Given the description of an element on the screen output the (x, y) to click on. 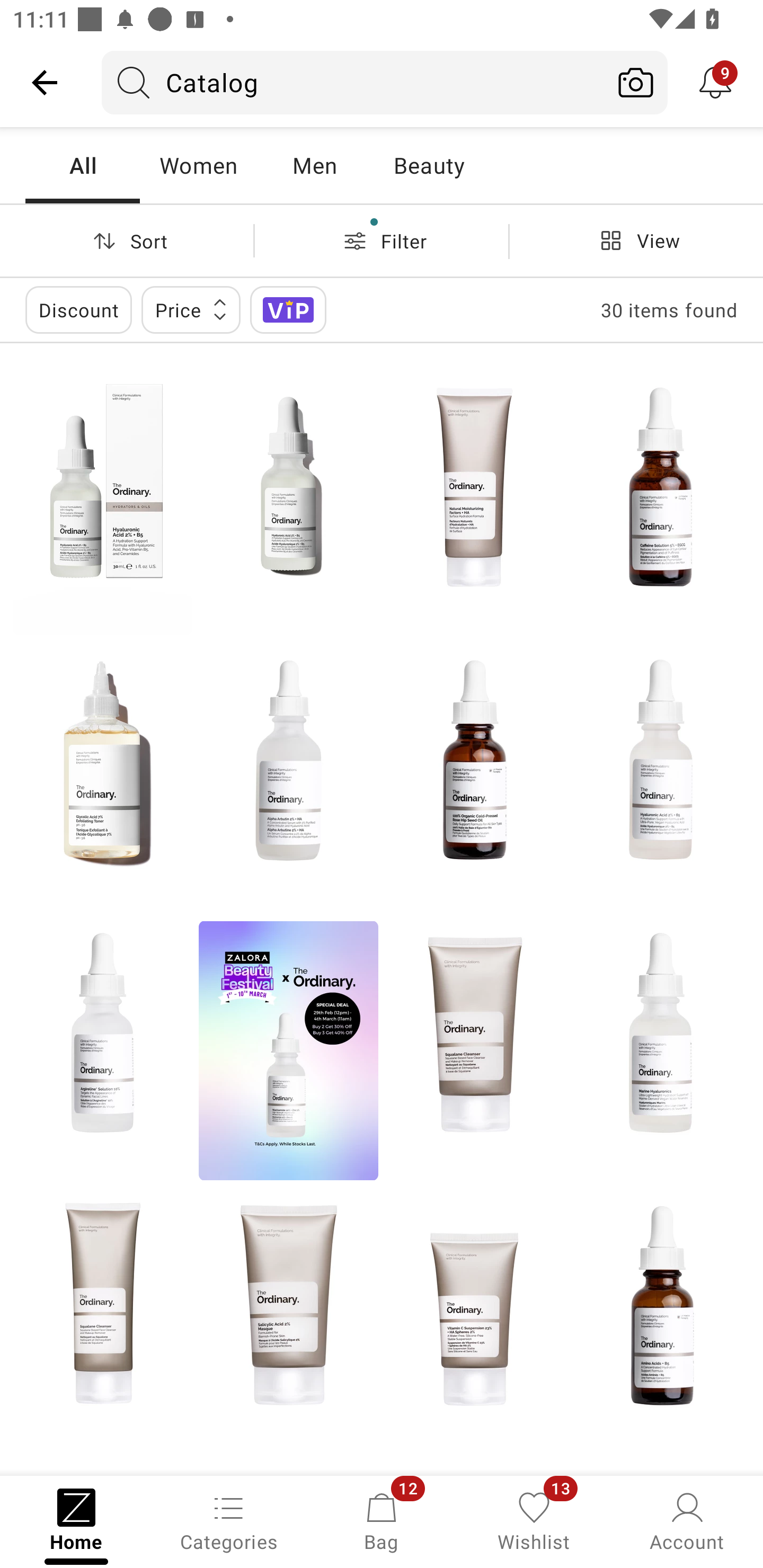
Navigate up (44, 82)
Catalog (352, 82)
Women (198, 165)
Men (314, 165)
Beauty (428, 165)
Sort (126, 240)
Filter (381, 240)
View (636, 240)
Discount (78, 309)
Price (190, 309)
Categories (228, 1519)
Bag, 12 new notifications Bag (381, 1519)
Wishlist, 13 new notifications Wishlist (533, 1519)
Account (686, 1519)
